Given the description of an element on the screen output the (x, y) to click on. 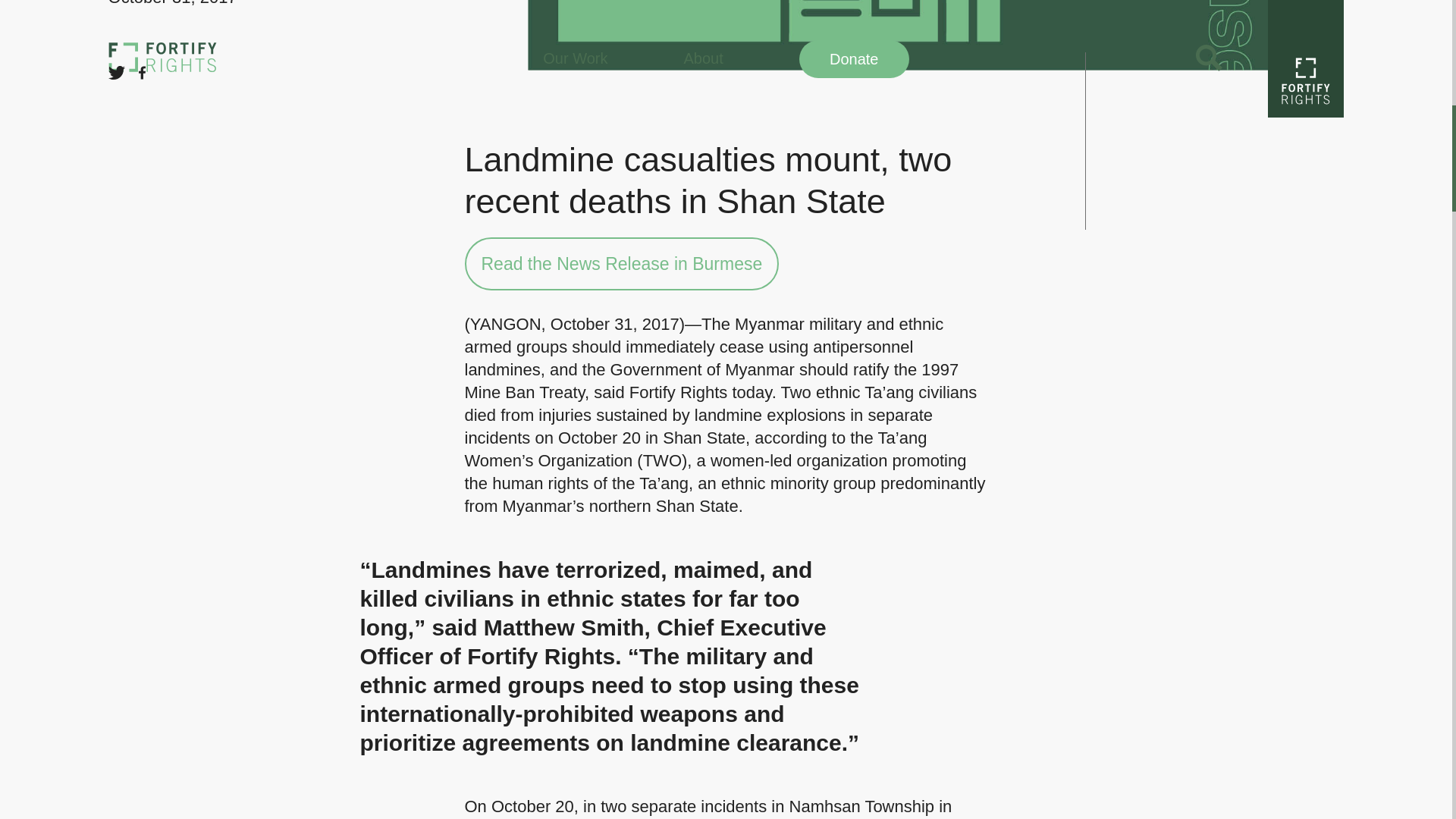
Read the News Release in Burmese (621, 263)
